Given the description of an element on the screen output the (x, y) to click on. 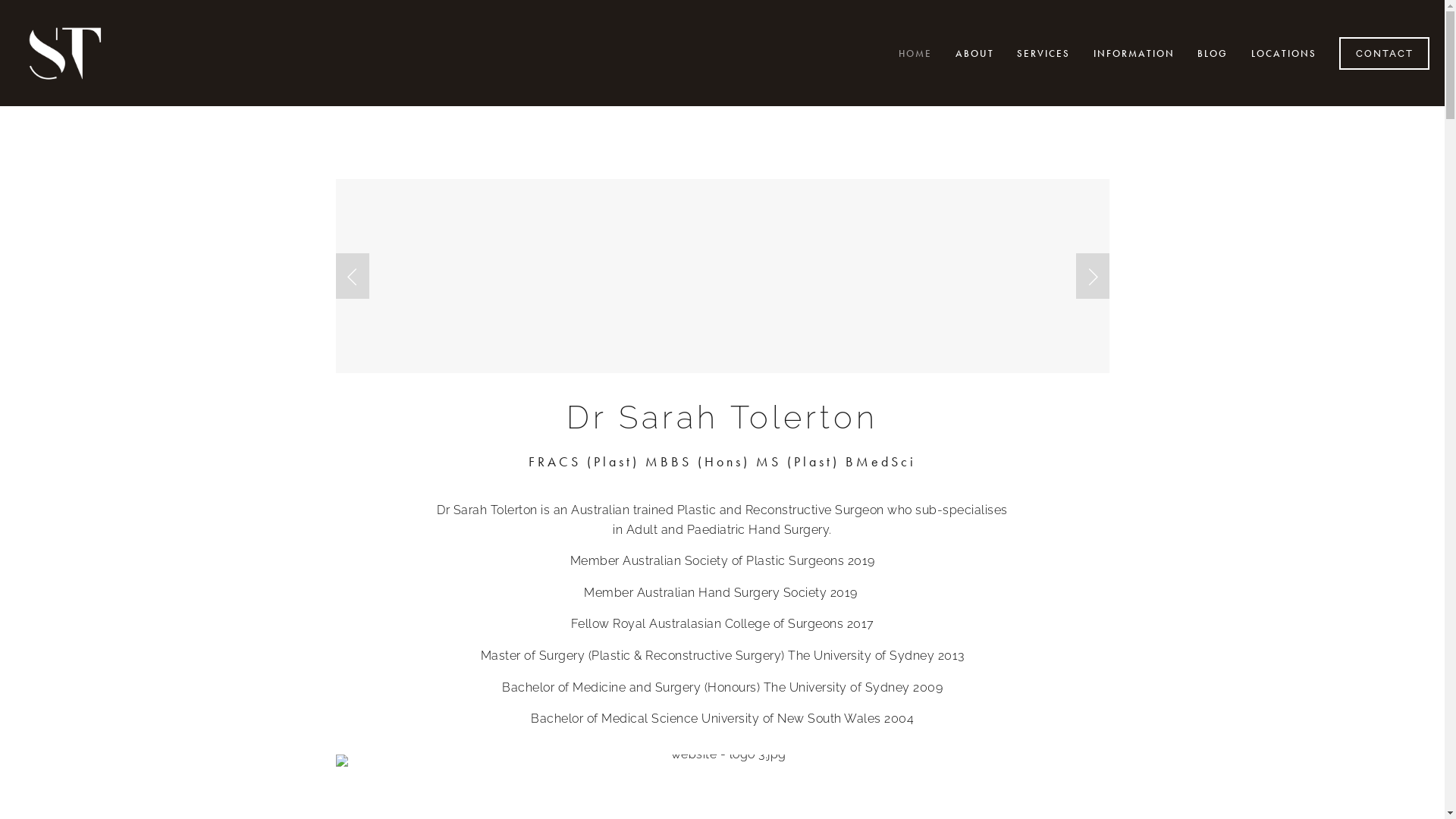
LOCATIONS Element type: text (1282, 52)
CONTACT Element type: text (1384, 52)
HOME Element type: text (914, 52)
BLOG Element type: text (1212, 52)
SERVICES Element type: text (1043, 52)
ABOUT Element type: text (973, 52)
INFORMATION Element type: text (1132, 52)
